Given the description of an element on the screen output the (x, y) to click on. 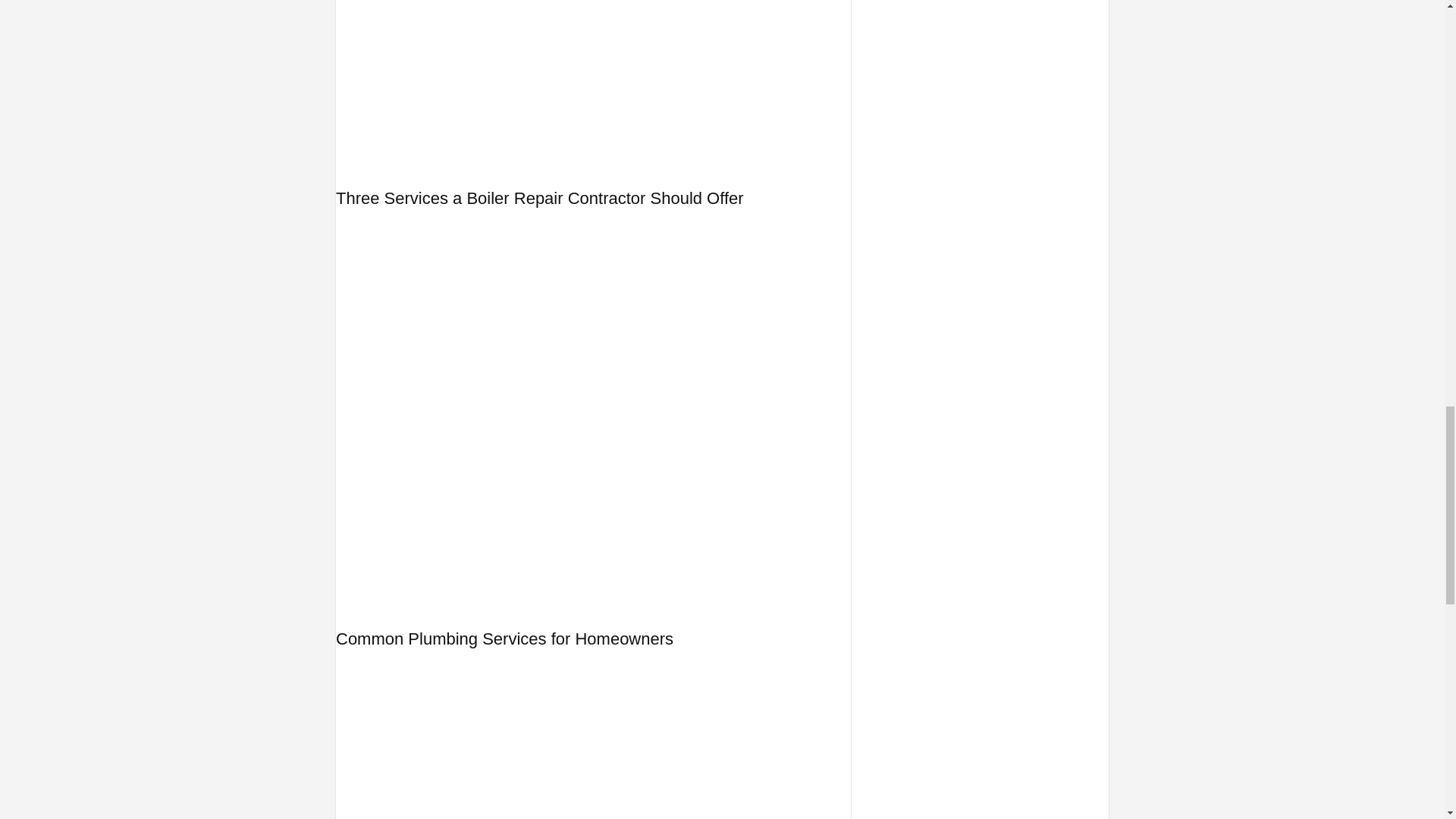
Common Plumbing Services for Homeowners (504, 638)
Three Services a Boiler Repair Contractor Should Offer (593, 83)
Three Services a Boiler Repair Contractor Should Offer (540, 198)
Three Services a Boiler Repair Contractor Should Offer (540, 198)
